Given the description of an element on the screen output the (x, y) to click on. 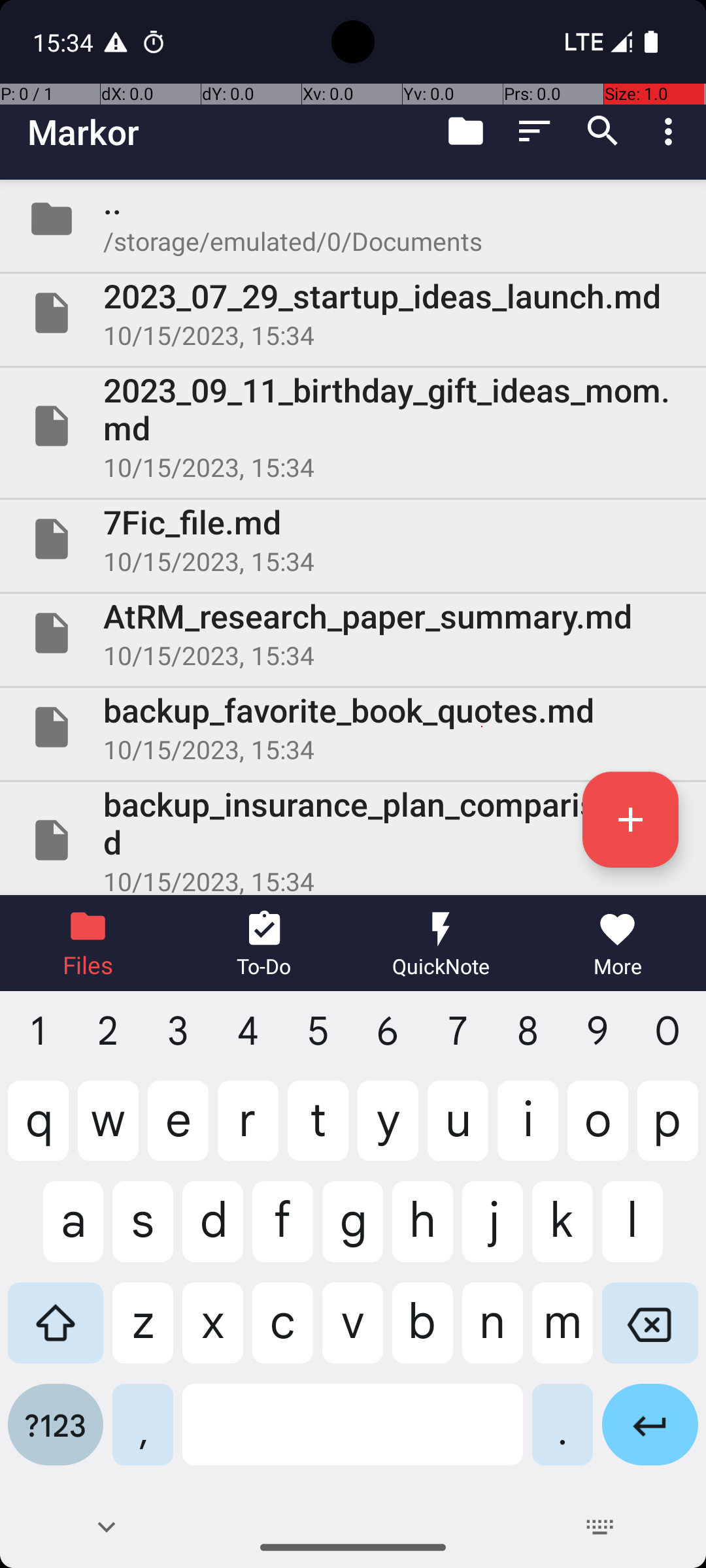
File 2023_07_29_startup_ideas_launch.md  Element type: android.widget.LinearLayout (353, 312)
File 2023_09_11_birthday_gift_ideas_mom.md  Element type: android.widget.LinearLayout (353, 425)
File 7Fic_file.md  Element type: android.widget.LinearLayout (353, 538)
File AtRM_research_paper_summary.md  Element type: android.widget.LinearLayout (353, 632)
File backup_favorite_book_quotes.md  Element type: android.widget.LinearLayout (353, 726)
File backup_insurance_plan_comparison.md  Element type: android.widget.LinearLayout (353, 838)
